Given the description of an element on the screen output the (x, y) to click on. 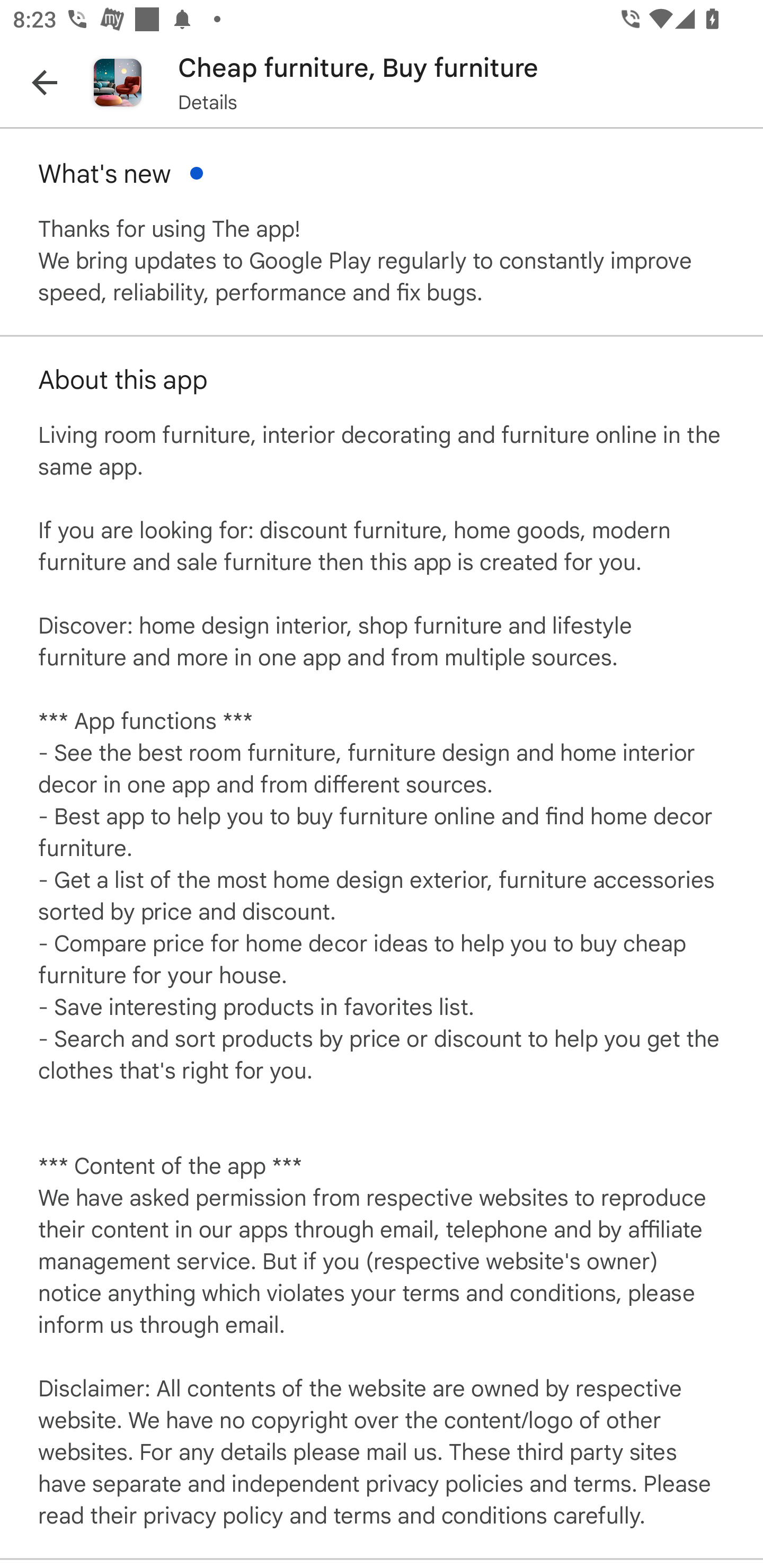
Navigate up (44, 82)
